Given the description of an element on the screen output the (x, y) to click on. 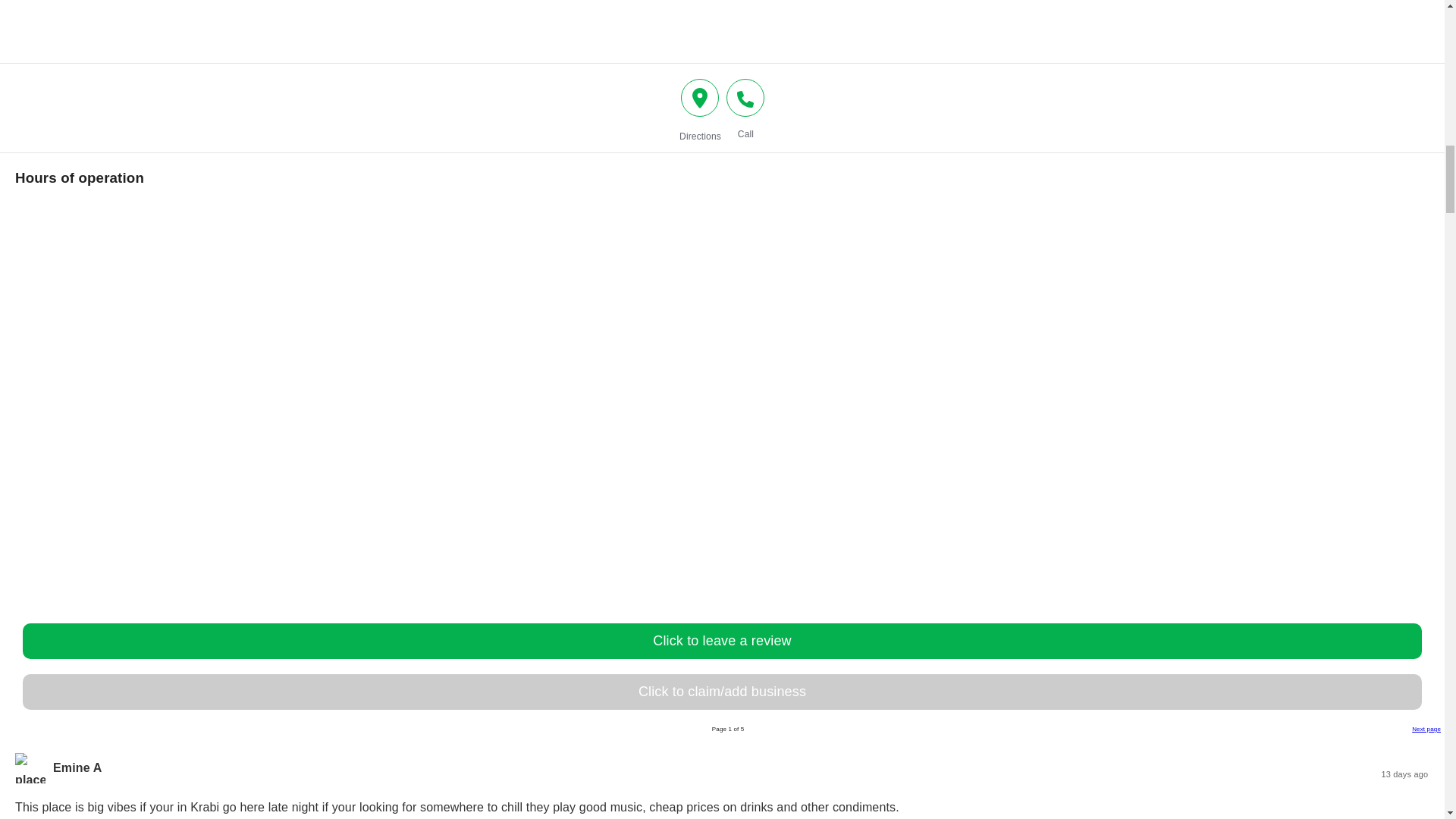
Emine A (76, 767)
Next page (1426, 728)
